Given the description of an element on the screen output the (x, y) to click on. 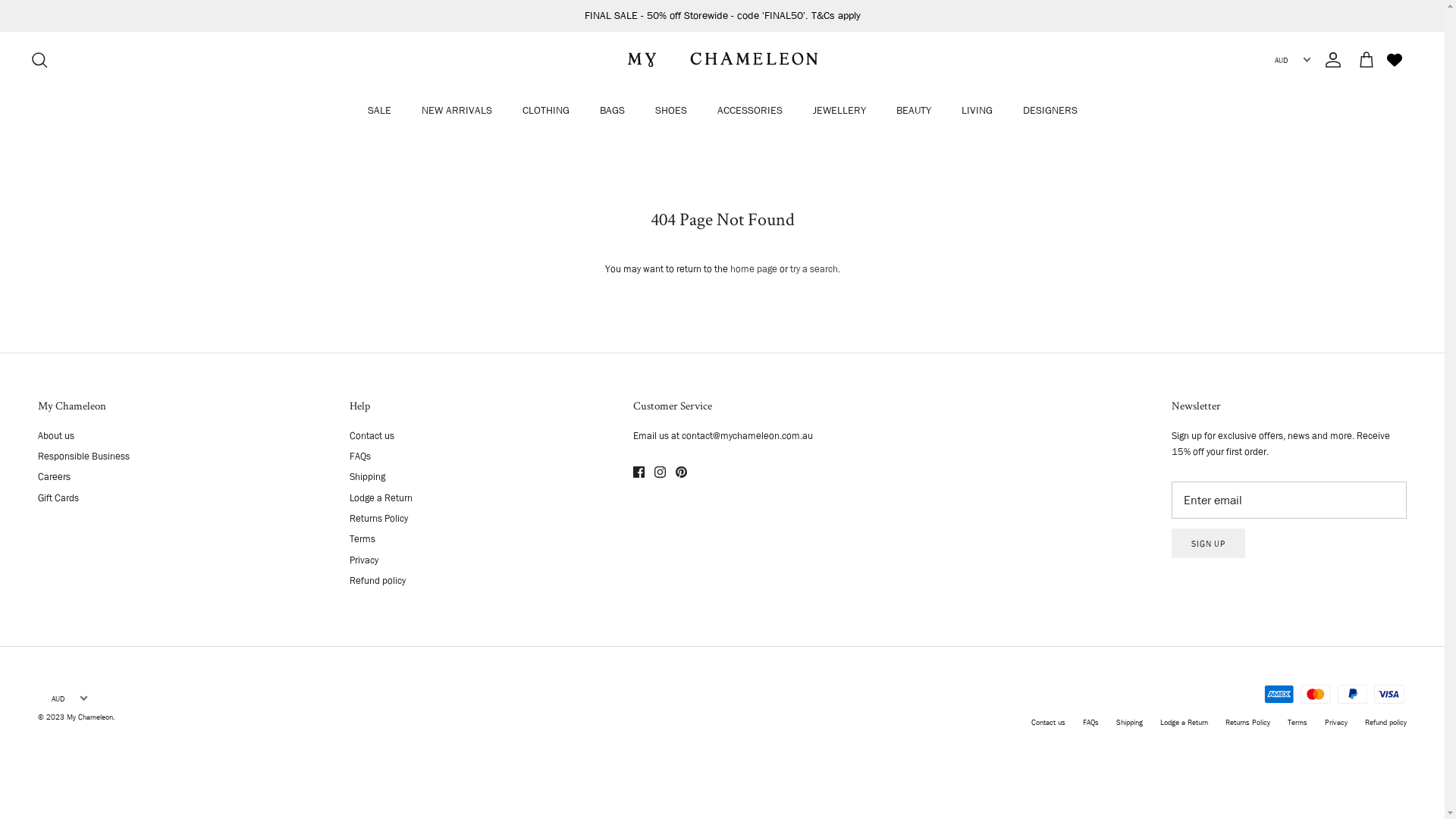
NEW ARRIVALS Element type: text (456, 109)
BEAUTY Element type: text (913, 109)
Gift Cards Element type: text (57, 497)
Terms Element type: text (362, 538)
Returns Policy Element type: text (1247, 722)
JEWELLERY Element type: text (839, 109)
Pinterest Element type: text (681, 471)
Terms Element type: text (1297, 722)
DESIGNERS Element type: text (1049, 109)
My Chameleon Element type: hover (722, 59)
Facebook Element type: text (638, 471)
FAQs Element type: text (359, 455)
Refund policy Element type: text (377, 579)
BAGS Element type: text (611, 109)
Responsible Business Element type: text (83, 455)
Refund policy Element type: text (1385, 722)
Contact us Element type: text (1048, 722)
Instagram Element type: text (659, 471)
Lodge a Return Element type: text (1184, 722)
CLOTHING Element type: text (545, 109)
Privacy Element type: text (1335, 722)
Shipping Element type: text (1129, 722)
Account Element type: text (1329, 59)
About us Element type: text (55, 435)
Privacy Element type: text (363, 559)
LIVING Element type: text (976, 109)
Shipping Element type: text (367, 476)
Returns Policy Element type: text (378, 517)
SALE Element type: text (378, 109)
SIGN UP Element type: text (1208, 543)
home page Element type: text (752, 268)
Careers Element type: text (53, 476)
try a search Element type: text (813, 268)
Contact us Element type: text (371, 435)
Bag Element type: text (1366, 59)
Search Element type: text (39, 59)
FAQs Element type: text (1090, 722)
SHOES Element type: text (670, 109)
ACCESSORIES Element type: text (749, 109)
Lodge a Return Element type: text (380, 497)
My Chameleon Element type: text (89, 716)
